Given the description of an element on the screen output the (x, y) to click on. 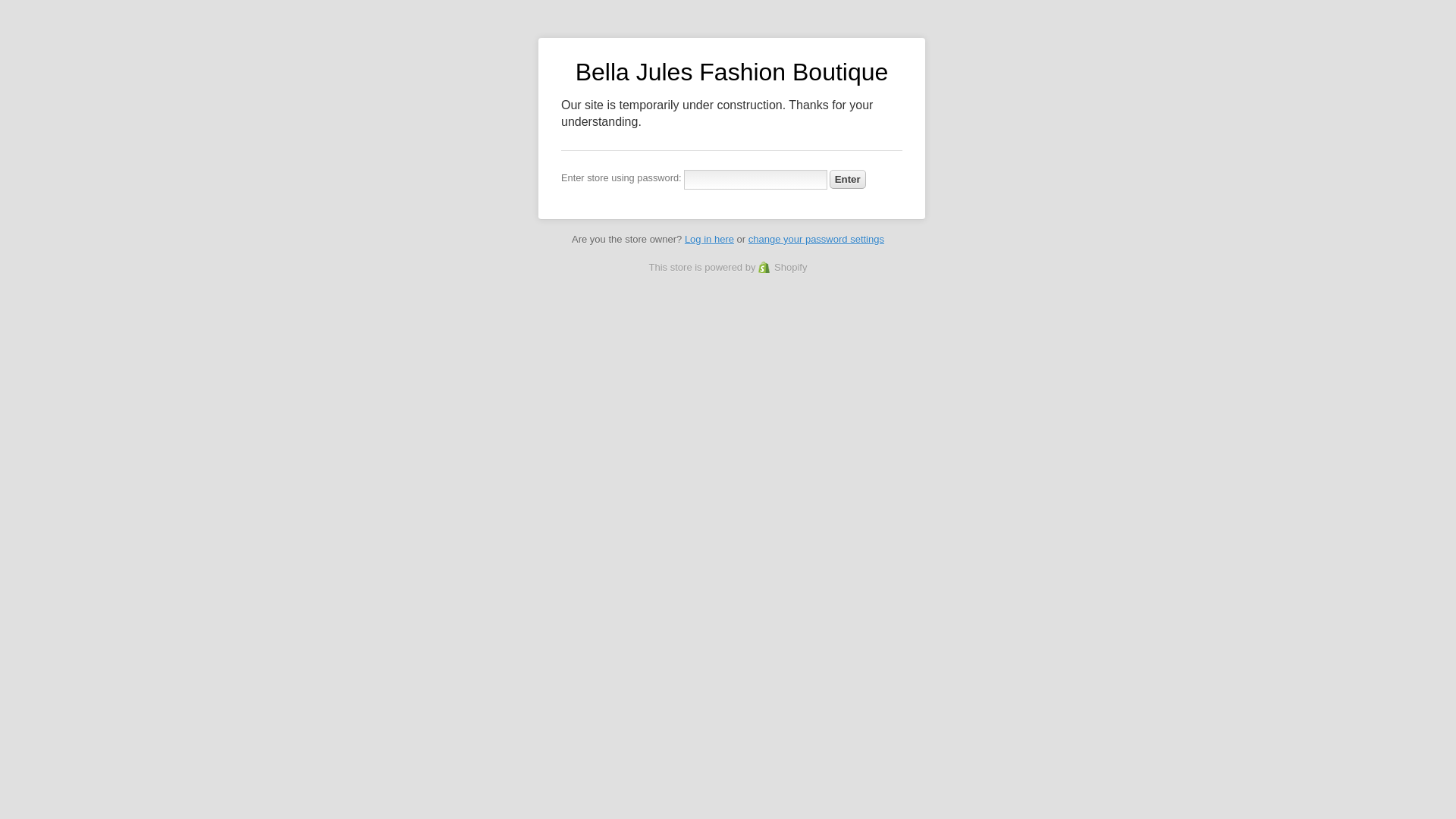
Enter (847, 179)
Enter (847, 179)
